Given the description of an element on the screen output the (x, y) to click on. 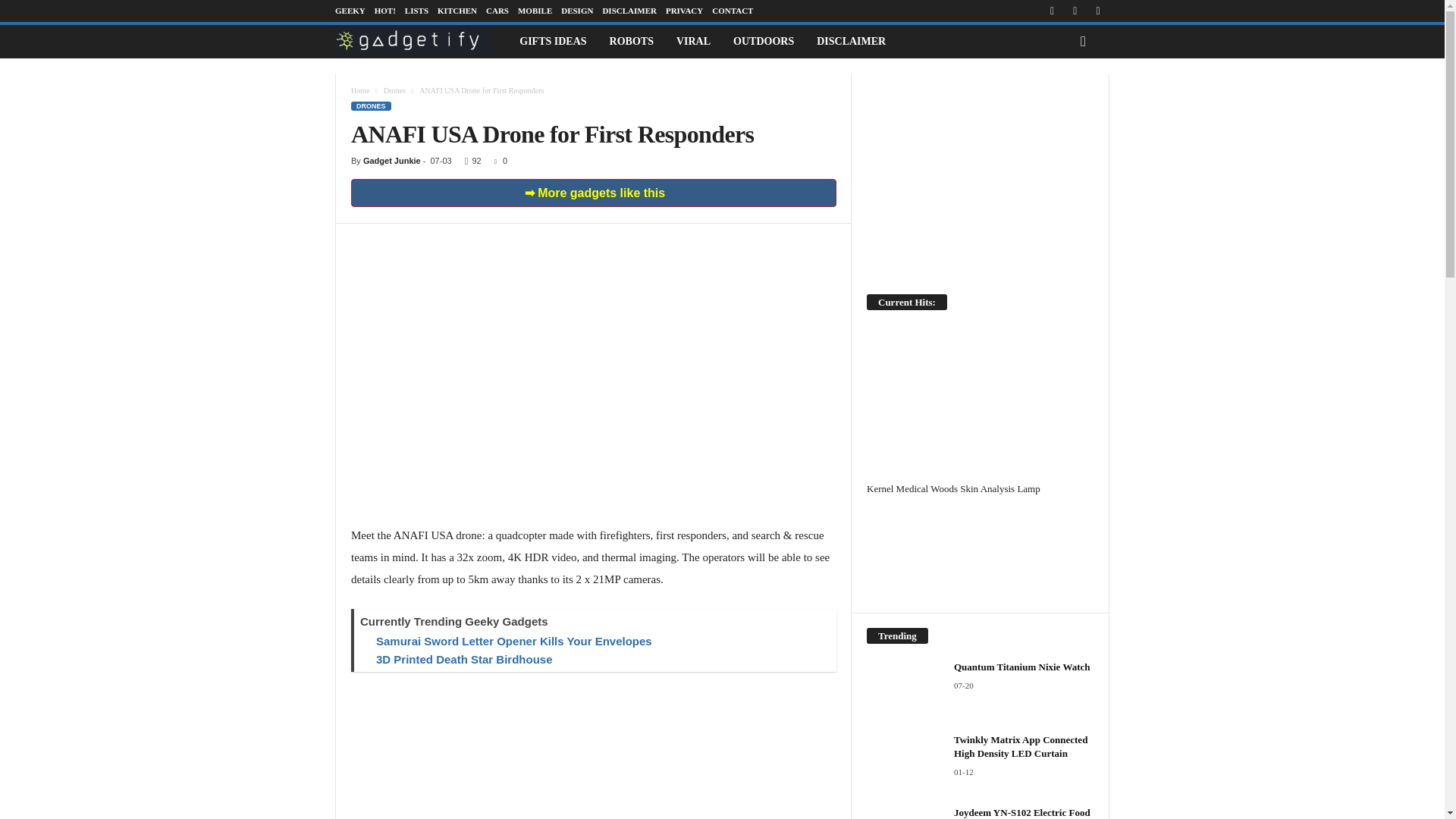
HOT! (385, 10)
GEEKY (349, 10)
LISTS (416, 10)
